Given the description of an element on the screen output the (x, y) to click on. 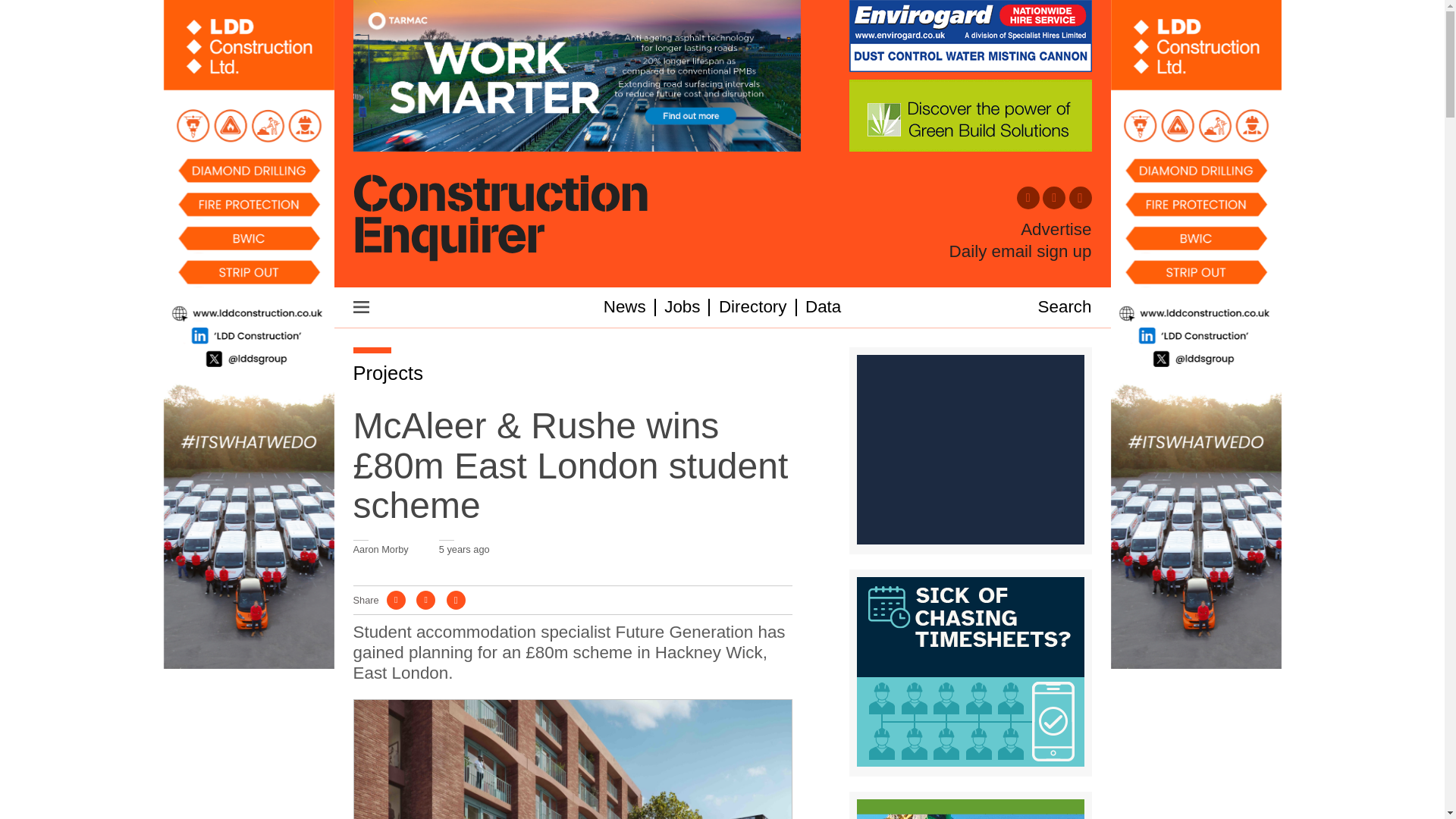
Projects (388, 373)
Menu (361, 306)
Directory (753, 306)
Data (823, 306)
Construction Enquirer (500, 219)
Jobs (681, 306)
Search (1065, 306)
Daily email sign up (1020, 251)
News (625, 306)
Advertise (1055, 229)
